Given the description of an element on the screen output the (x, y) to click on. 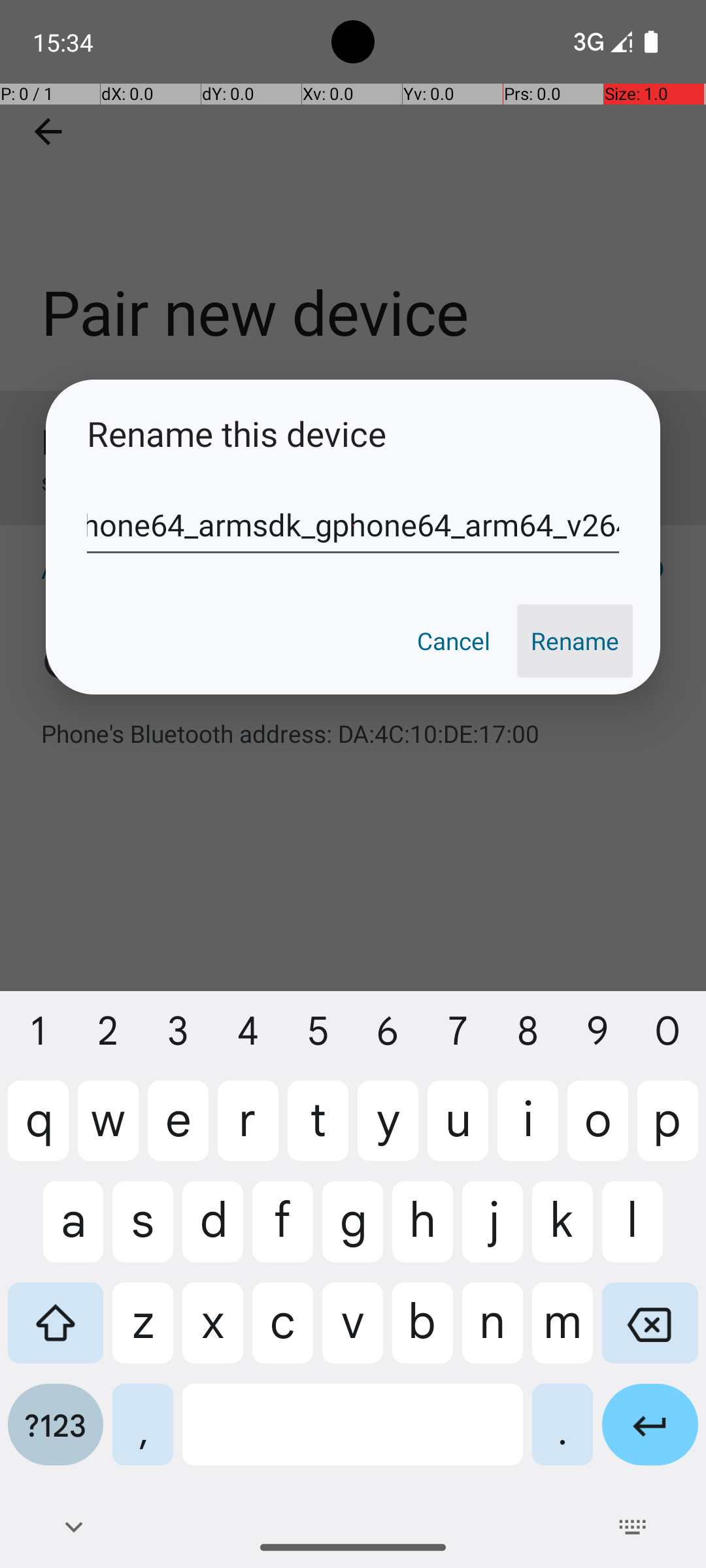
Rename this device Element type: android.widget.TextView (352, 433)
sdk_gphone64_armsdk_gphone64_arm64_v264 Element type: android.widget.EditText (352, 525)
